Given the description of an element on the screen output the (x, y) to click on. 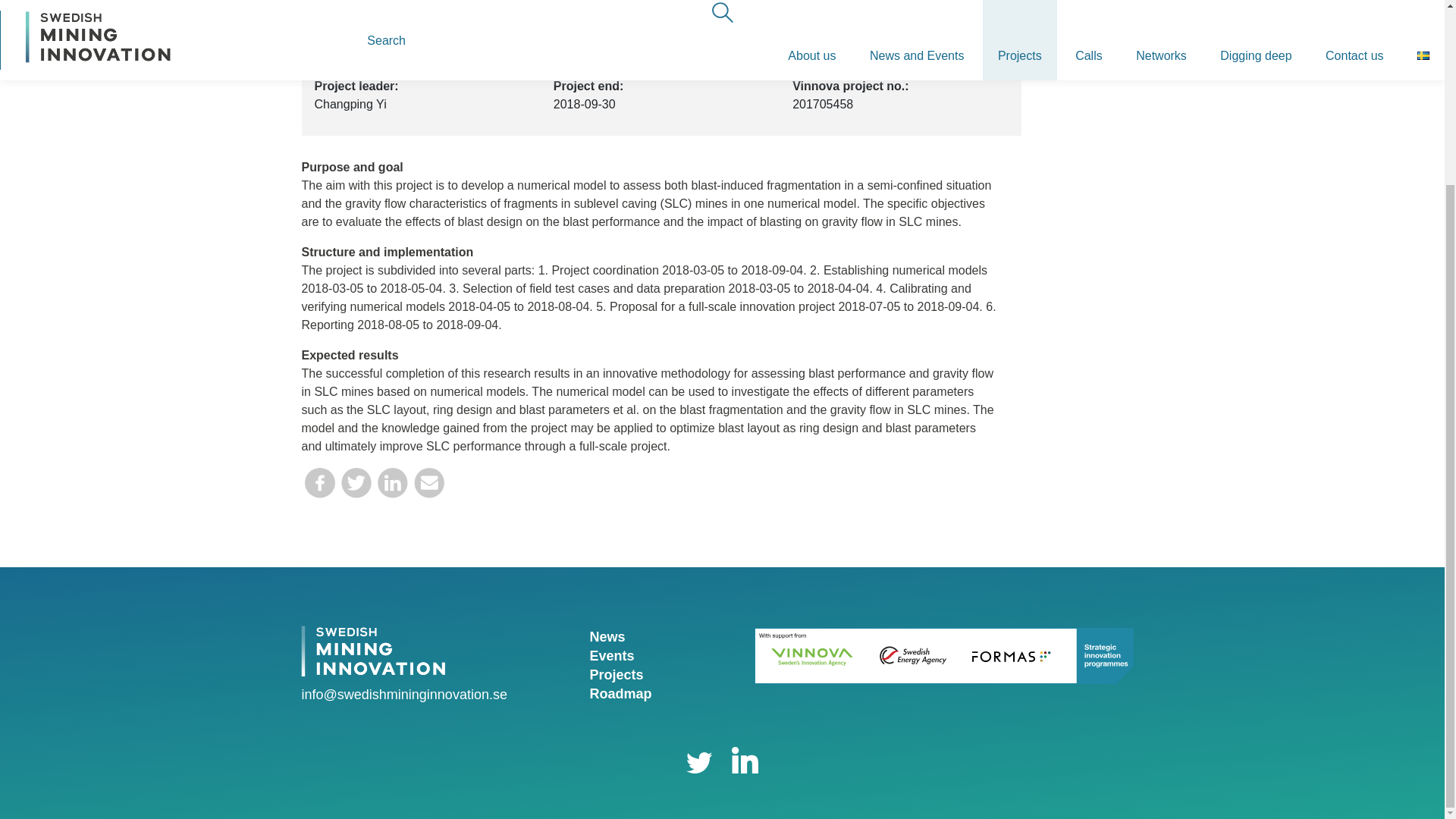
LinkedIn (392, 487)
Email (428, 487)
Twitter (355, 487)
